Given the description of an element on the screen output the (x, y) to click on. 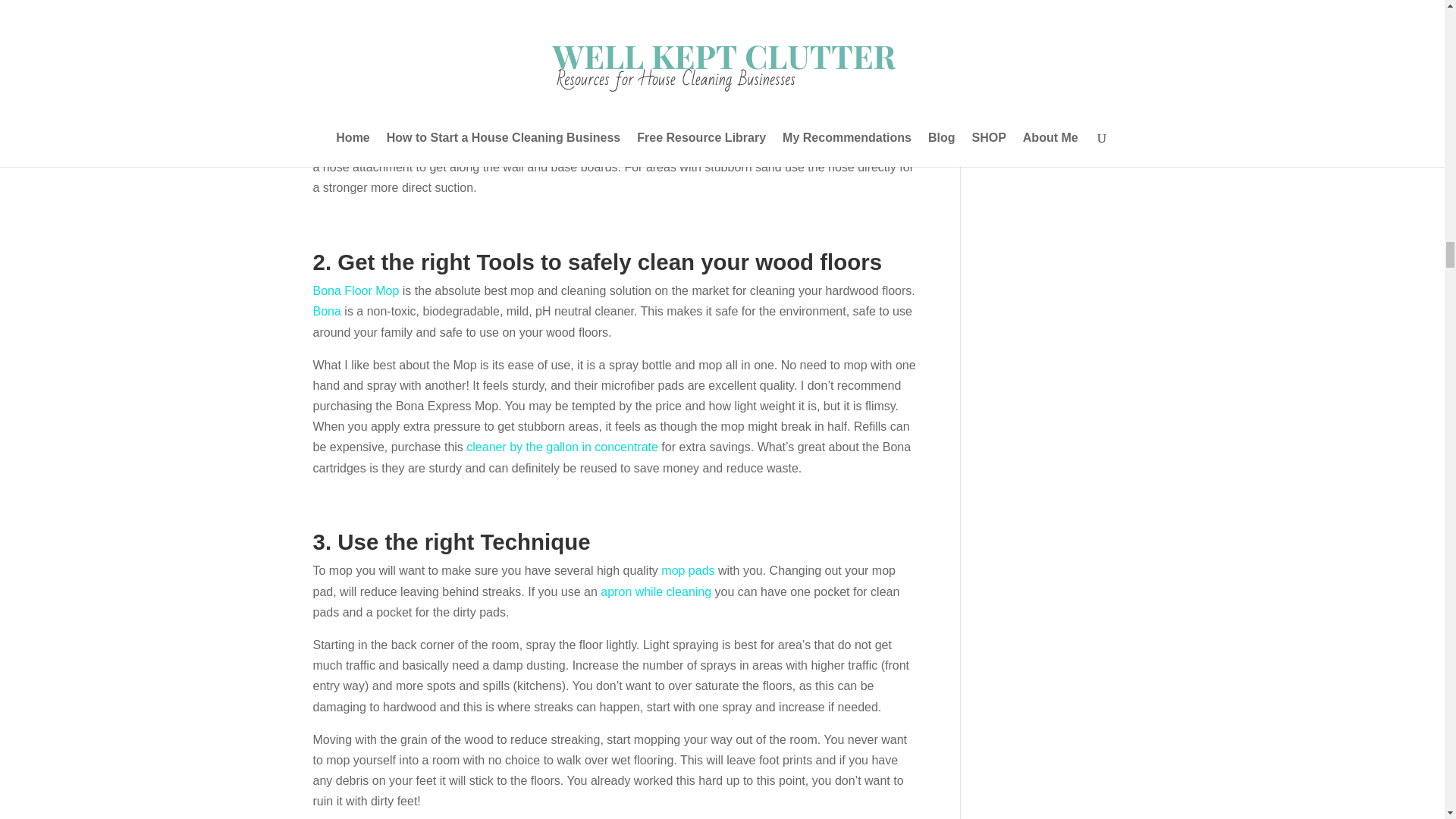
cleaner by the gallon in concentrate (561, 446)
Bona Floor Mop (355, 290)
Shark Rotator Upright vacuum (608, 115)
Bona (326, 310)
